Given the description of an element on the screen output the (x, y) to click on. 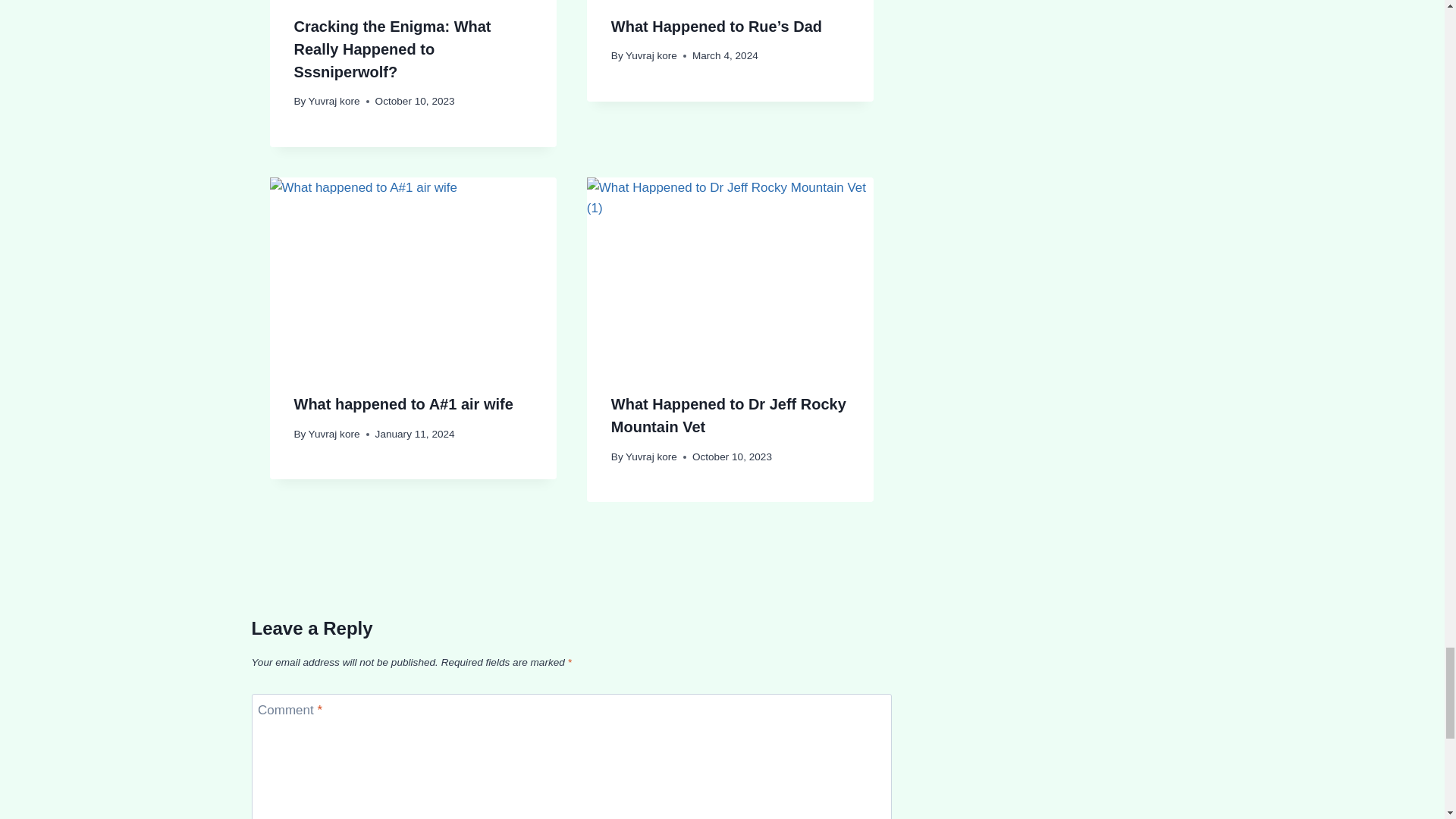
Yuvraj kore (651, 55)
Cracking the Enigma: What Really Happened to Sssniperwolf? (393, 49)
Yuvraj kore (333, 101)
